Given the description of an element on the screen output the (x, y) to click on. 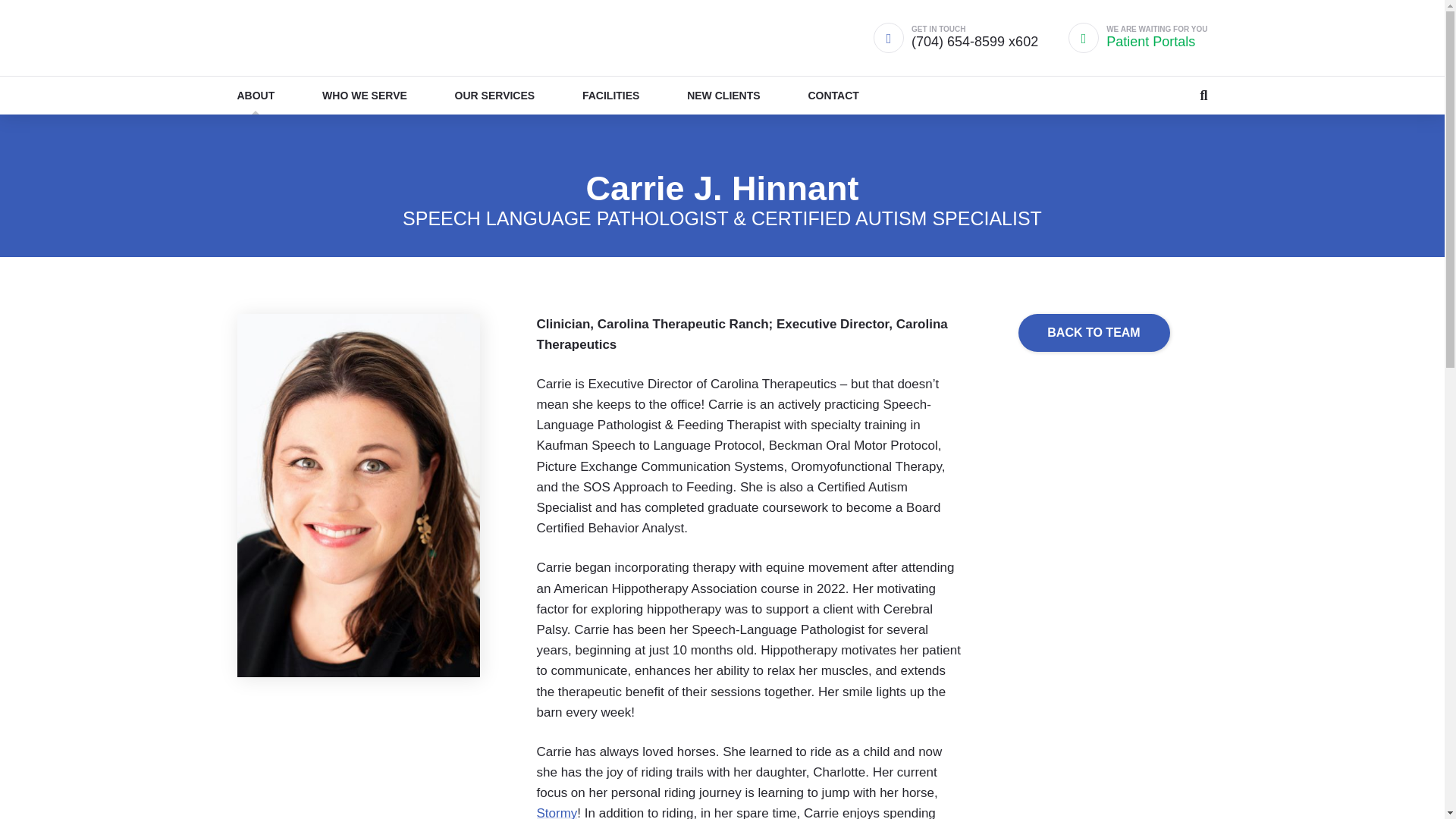
Carolina Therapeutic Ranch (320, 37)
ABOUT (1137, 37)
NEW CLIENTS (255, 95)
OUR SERVICES (723, 95)
CONTACT (494, 95)
BACK TO TEAM (833, 95)
FACILITIES (1093, 332)
Stormy (610, 95)
WHO WE SERVE (557, 812)
